Given the description of an element on the screen output the (x, y) to click on. 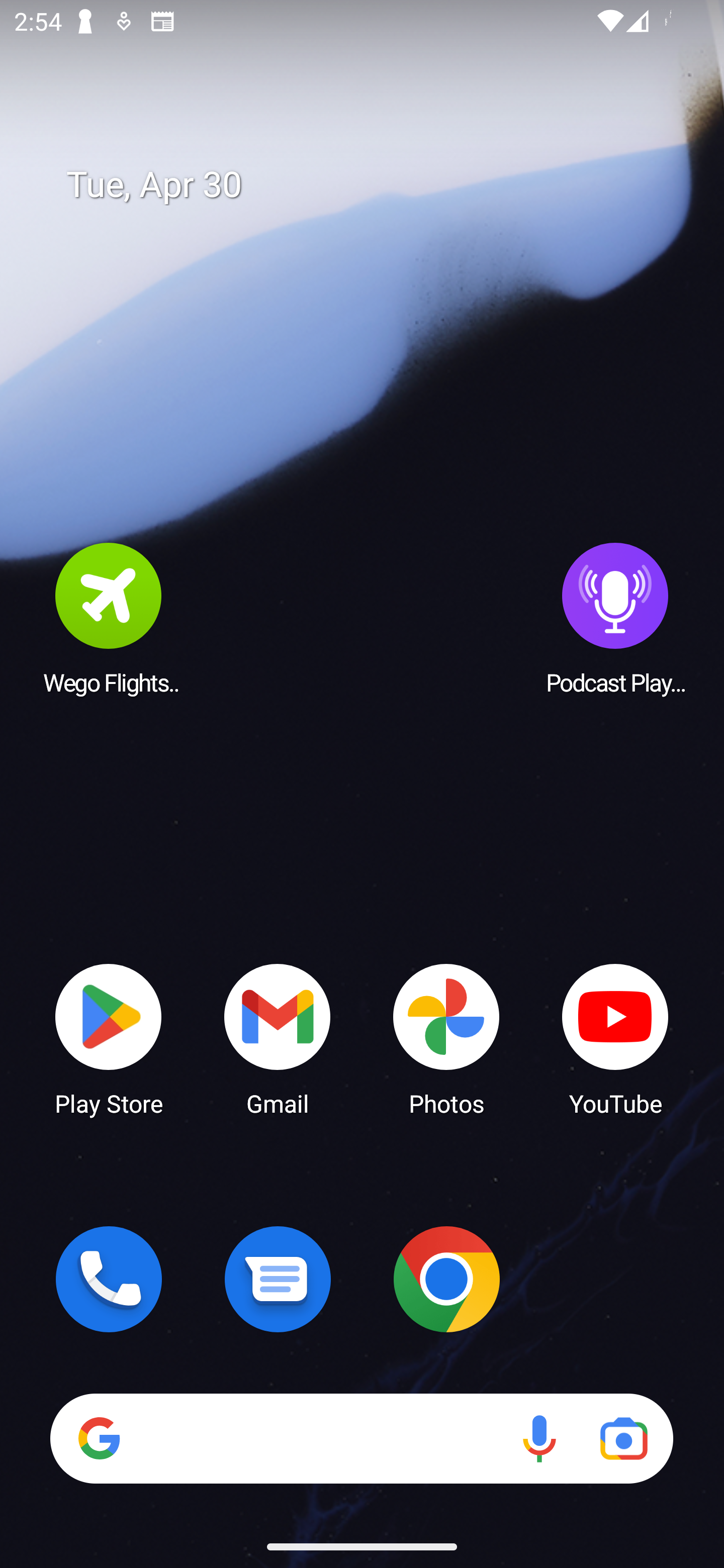
Tue, Apr 30 (375, 184)
Wego Flights & Hotels (108, 617)
Podcast Player (615, 617)
Play Store (108, 1038)
Gmail (277, 1038)
Photos (445, 1038)
YouTube (615, 1038)
Phone (108, 1279)
Messages (277, 1279)
Chrome (446, 1279)
Voice search (539, 1438)
Google Lens (623, 1438)
